Given the description of an element on the screen output the (x, y) to click on. 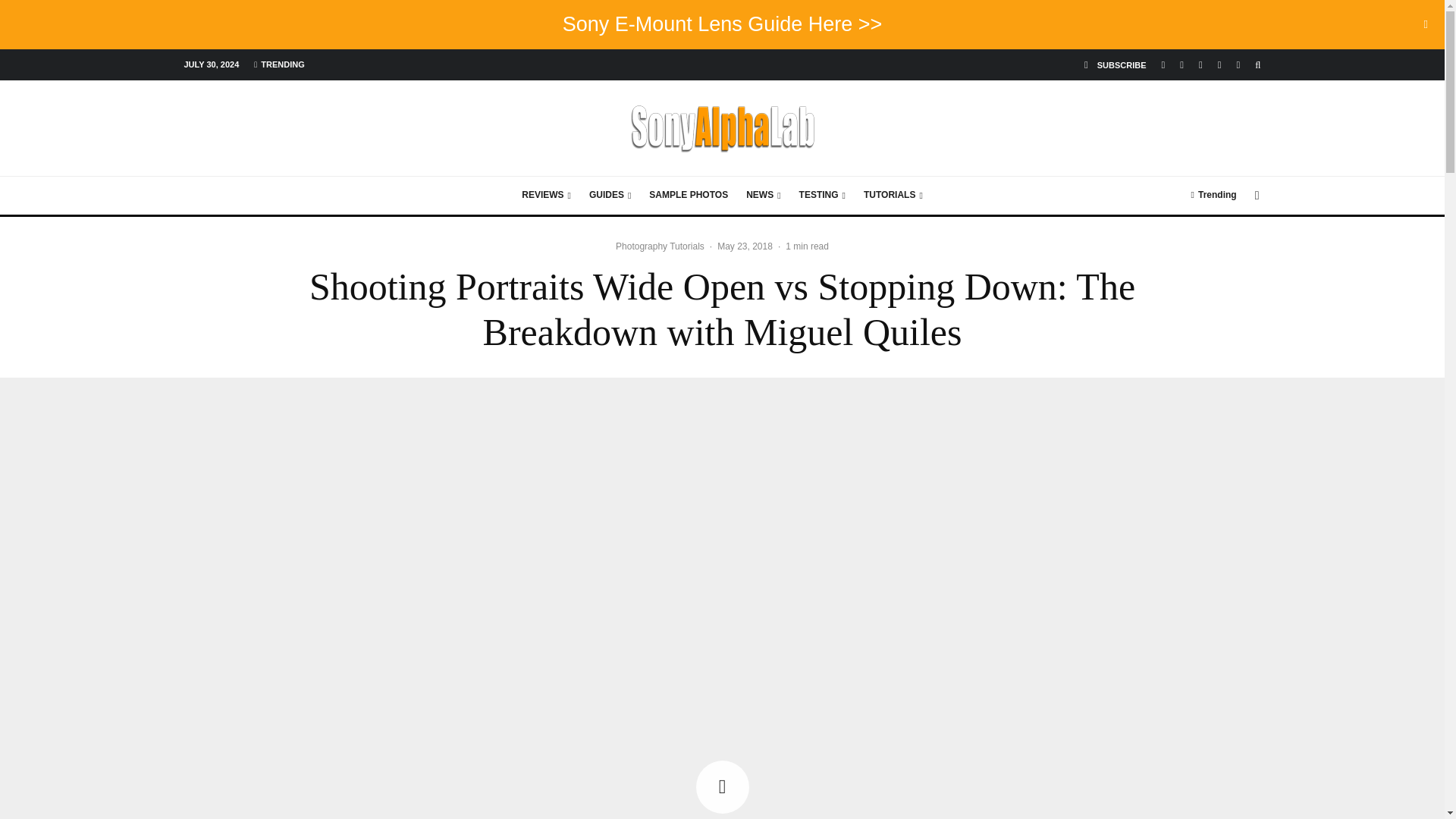
REVIEWS (545, 195)
SUBSCRIBE (1115, 65)
TRENDING (278, 63)
GUIDES (609, 195)
